Given the description of an element on the screen output the (x, y) to click on. 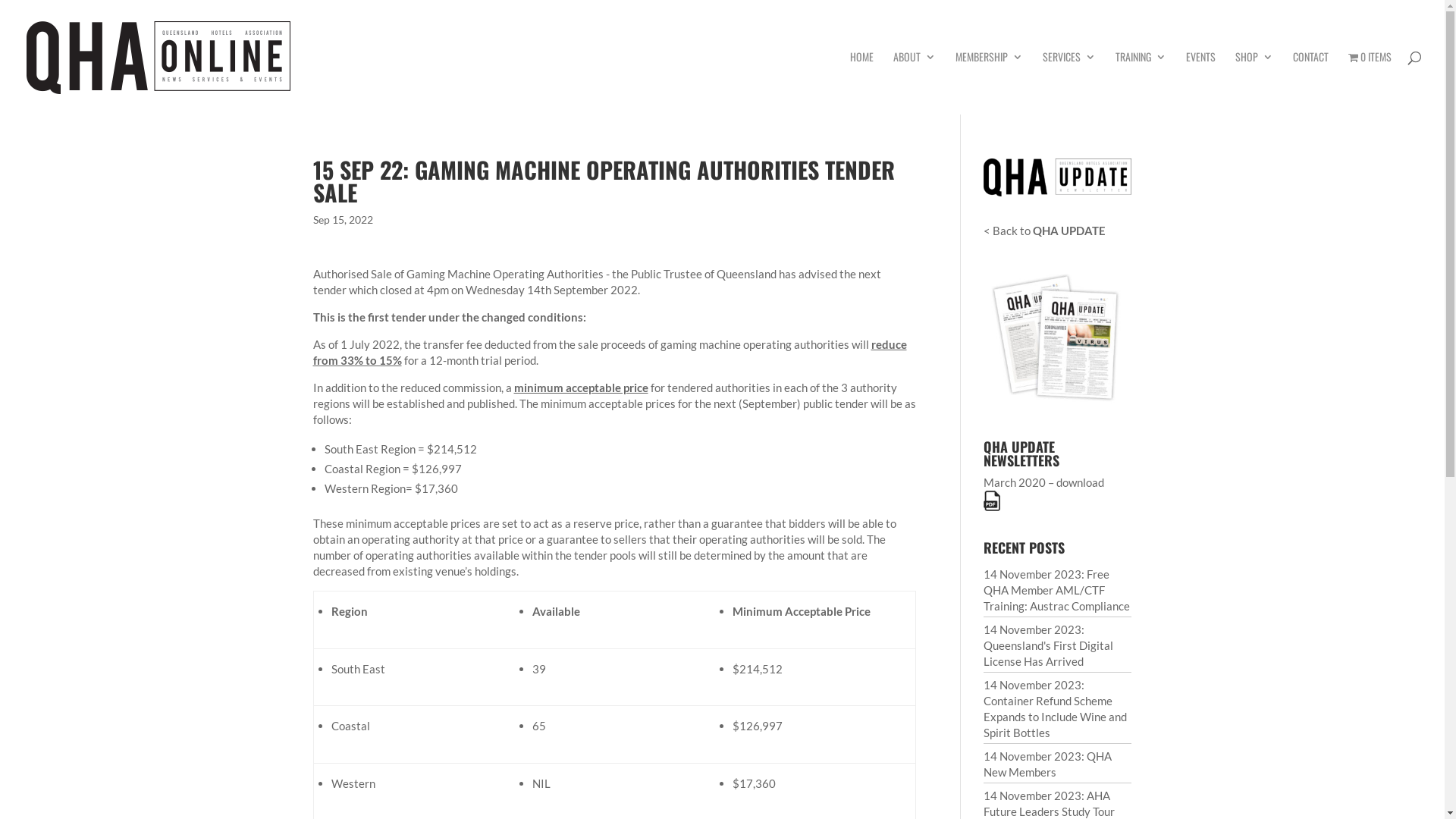
0 ITEMS Element type: text (1370, 82)
ABOUT Element type: text (914, 82)
SHOP Element type: text (1253, 82)
< Back to QHA UPDATE Element type: text (1044, 230)
MEMBERSHIP Element type: text (988, 82)
EVENTS Element type: text (1200, 82)
14 November 2023: QHA New Members Element type: text (1057, 764)
SERVICES Element type: text (1068, 82)
HOME Element type: text (860, 82)
TRAINING Element type: text (1139, 82)
CONTACT Element type: text (1309, 82)
